Given the description of an element on the screen output the (x, y) to click on. 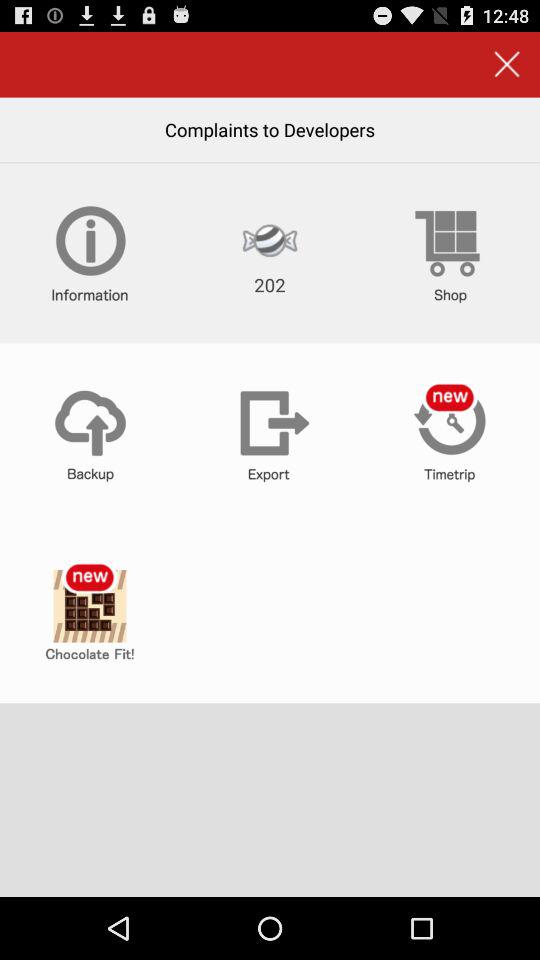
information (90, 253)
